Given the description of an element on the screen output the (x, y) to click on. 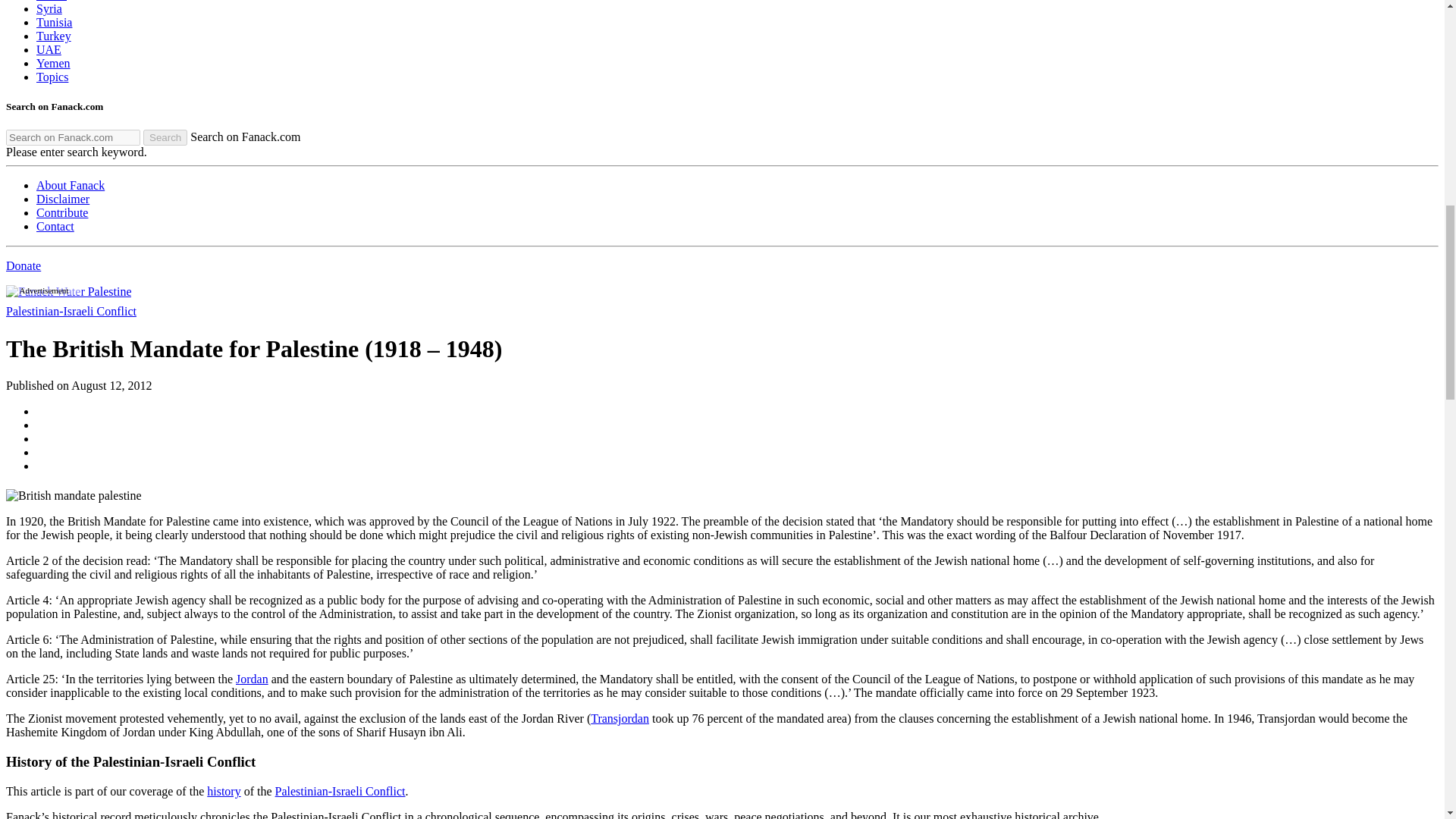
SYR (49, 8)
TUN (53, 21)
SDN (51, 0)
